Given the description of an element on the screen output the (x, y) to click on. 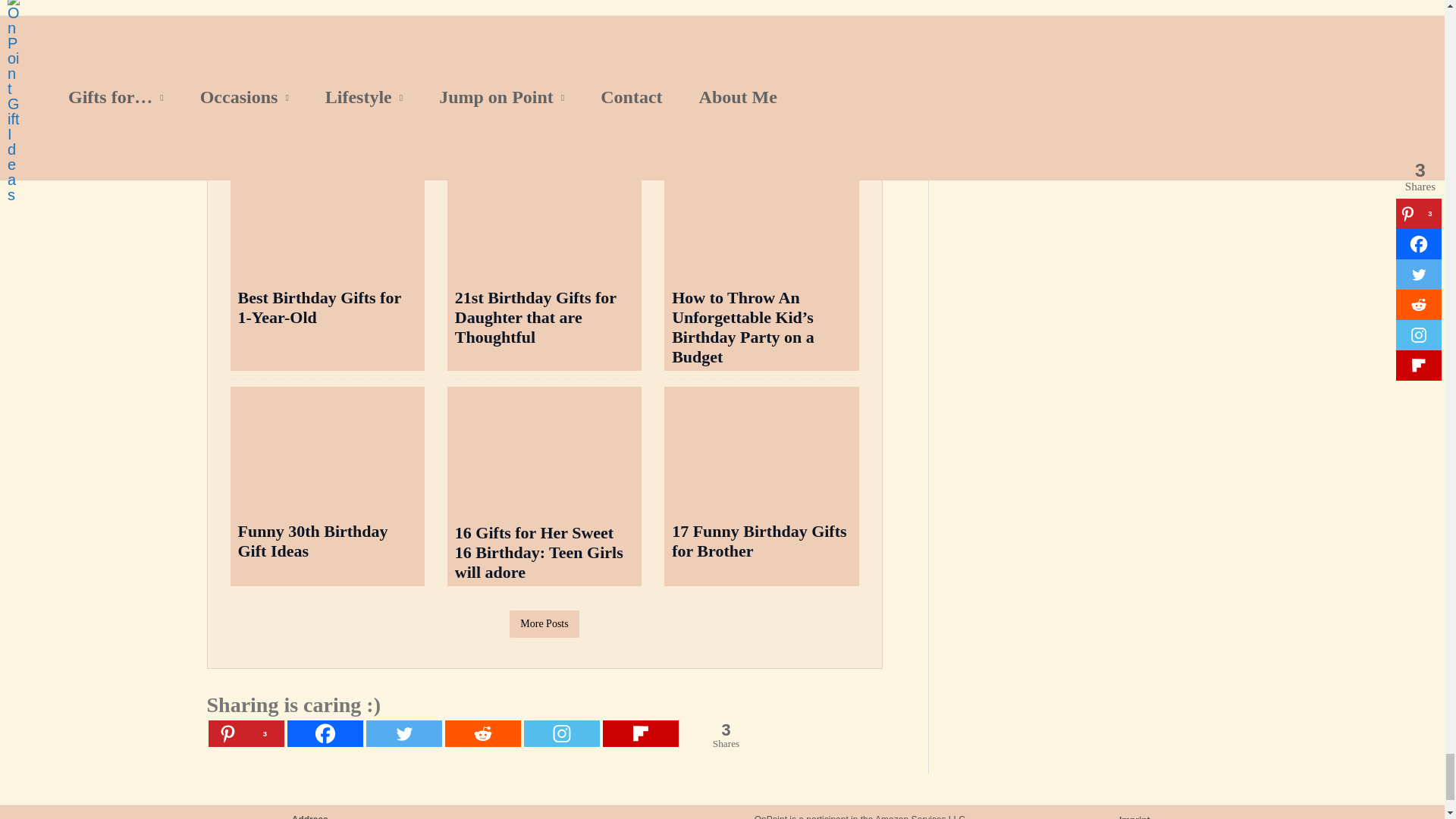
Pinterest (245, 733)
Facebook (324, 733)
Total Shares (726, 734)
Twitter (403, 733)
Instagram (560, 733)
Reddit (481, 733)
Flipboard (640, 733)
